Given the description of an element on the screen output the (x, y) to click on. 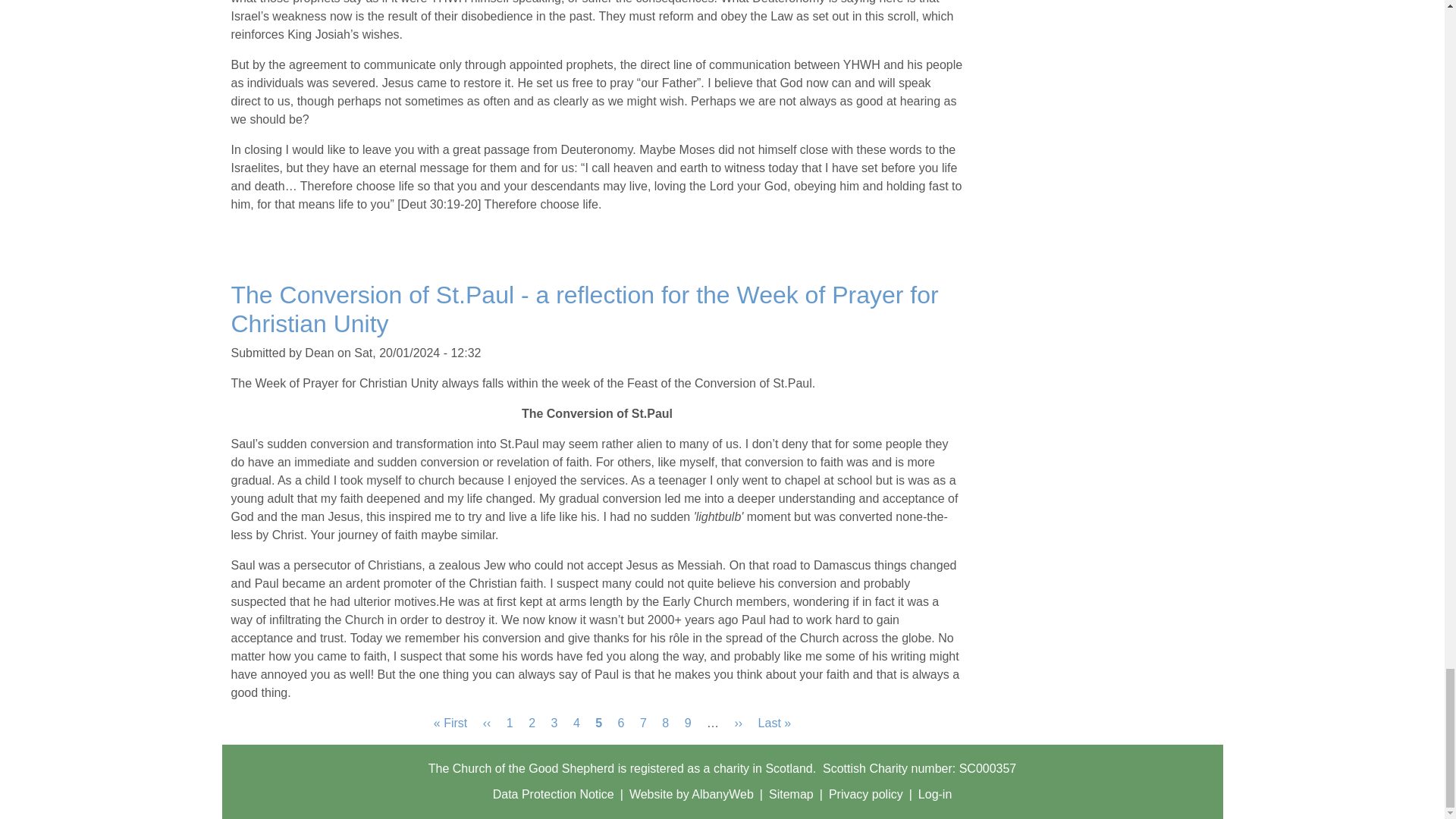
Go to page 9 (687, 722)
Go to page 6 (620, 722)
Saturday, January 20, 2024 - 12:32 (416, 352)
Go to page 7 (643, 722)
Current page (598, 722)
Go to page 1 (554, 722)
Go to page 4 (509, 722)
Go to page 2 (576, 722)
Go to previous page (531, 722)
Go to next page (531, 722)
Go to page 8 (489, 722)
Go to first page (739, 722)
